Given the description of an element on the screen output the (x, y) to click on. 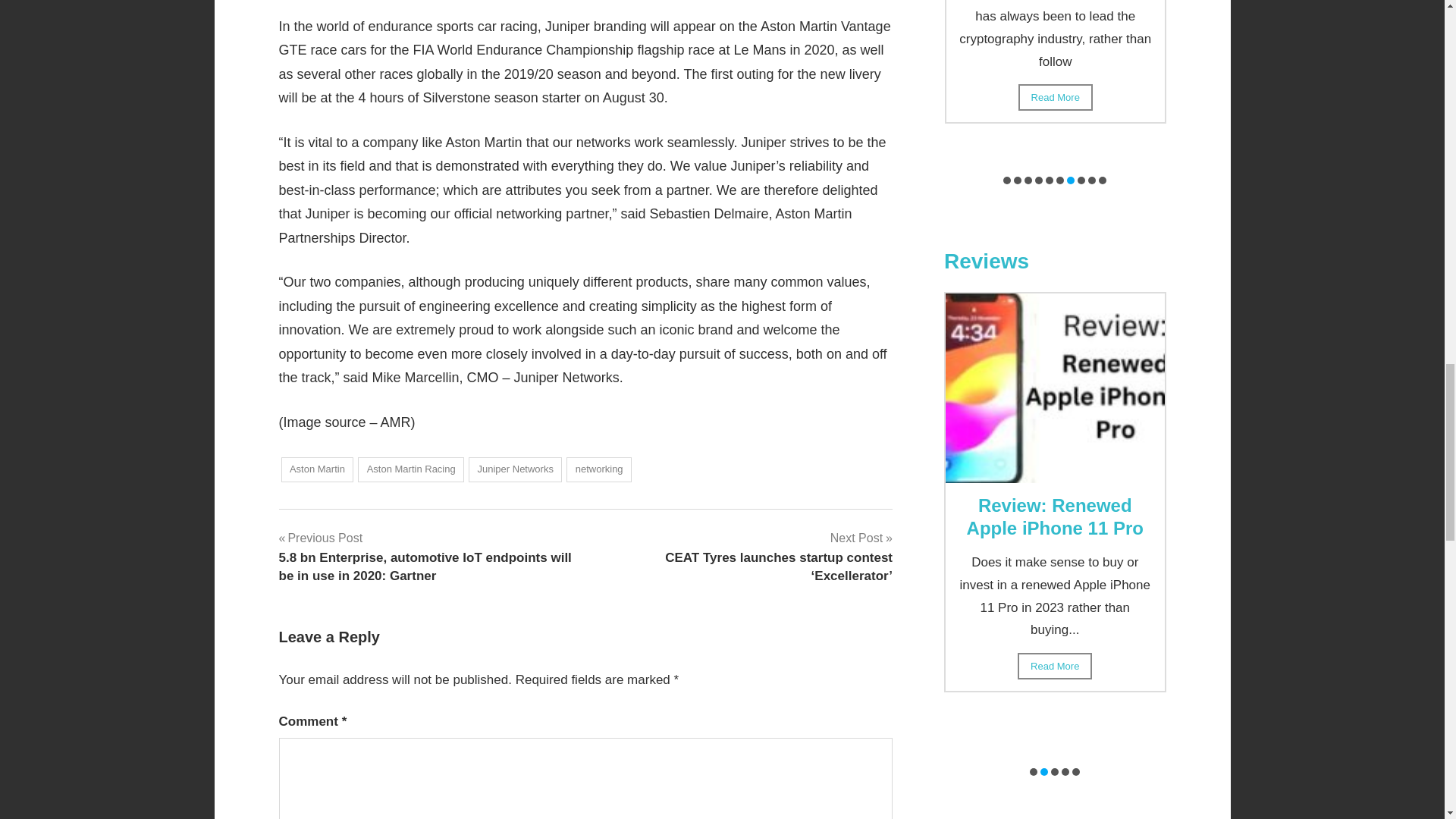
networking (598, 469)
Aston Martin (317, 469)
Juniper Networks (515, 469)
Aston Martin Racing (411, 469)
